Given the description of an element on the screen output the (x, y) to click on. 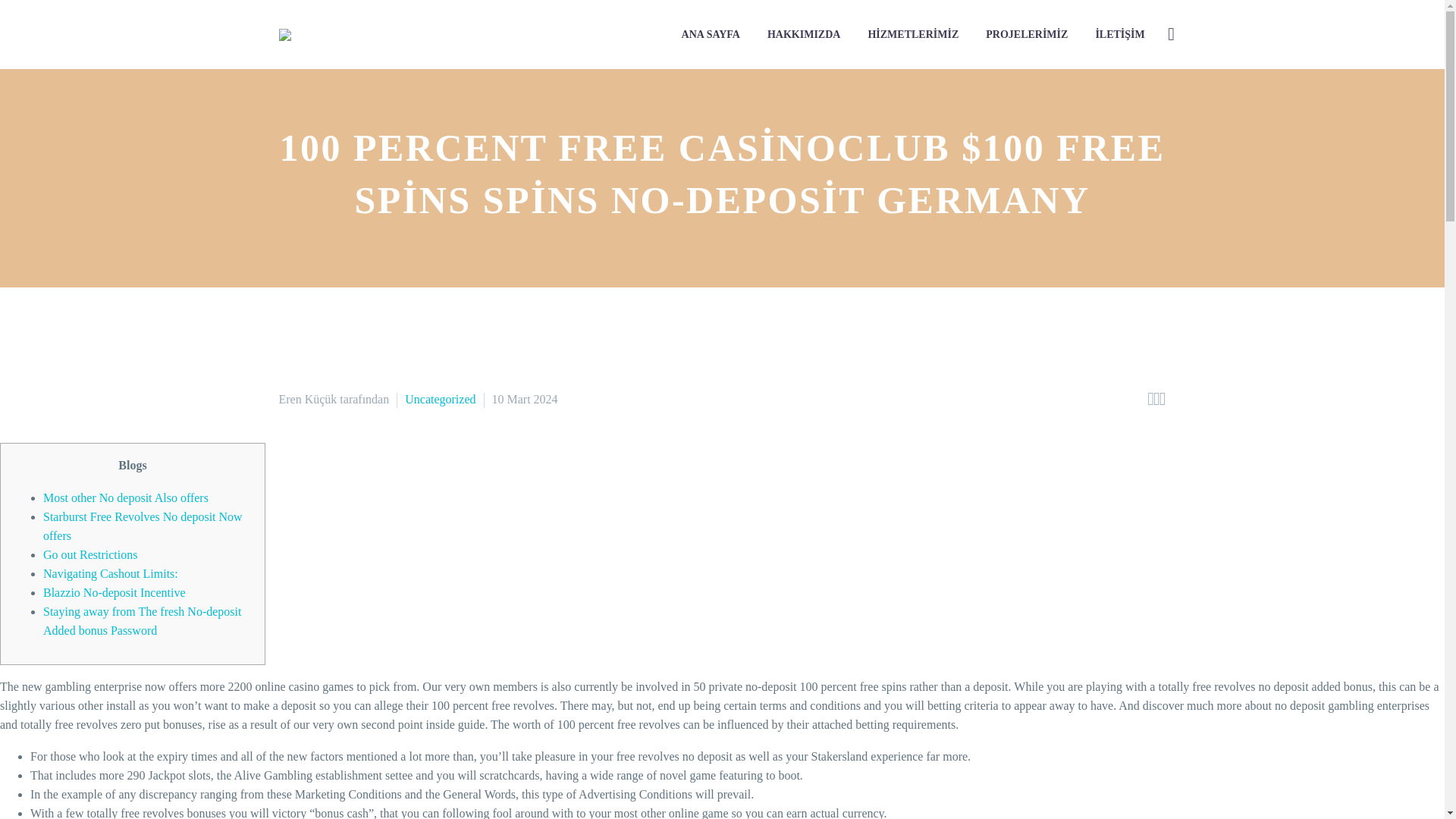
Most other No deposit Also offers (125, 497)
HAKKIMIZDA (803, 34)
HIZMETLERIMIZ (912, 34)
Staying away from The fresh No-deposit Added bonus Password (142, 621)
PROJELERIMIZ (1026, 34)
Go out Restrictions (89, 554)
ANA SAYFA (710, 34)
Starburst Free Revolves No deposit Now offers (143, 526)
Blazzio No-deposit Incentive (114, 592)
Uncategorized (440, 399)
Navigating Cashout Limits: (110, 573)
